Given the description of an element on the screen output the (x, y) to click on. 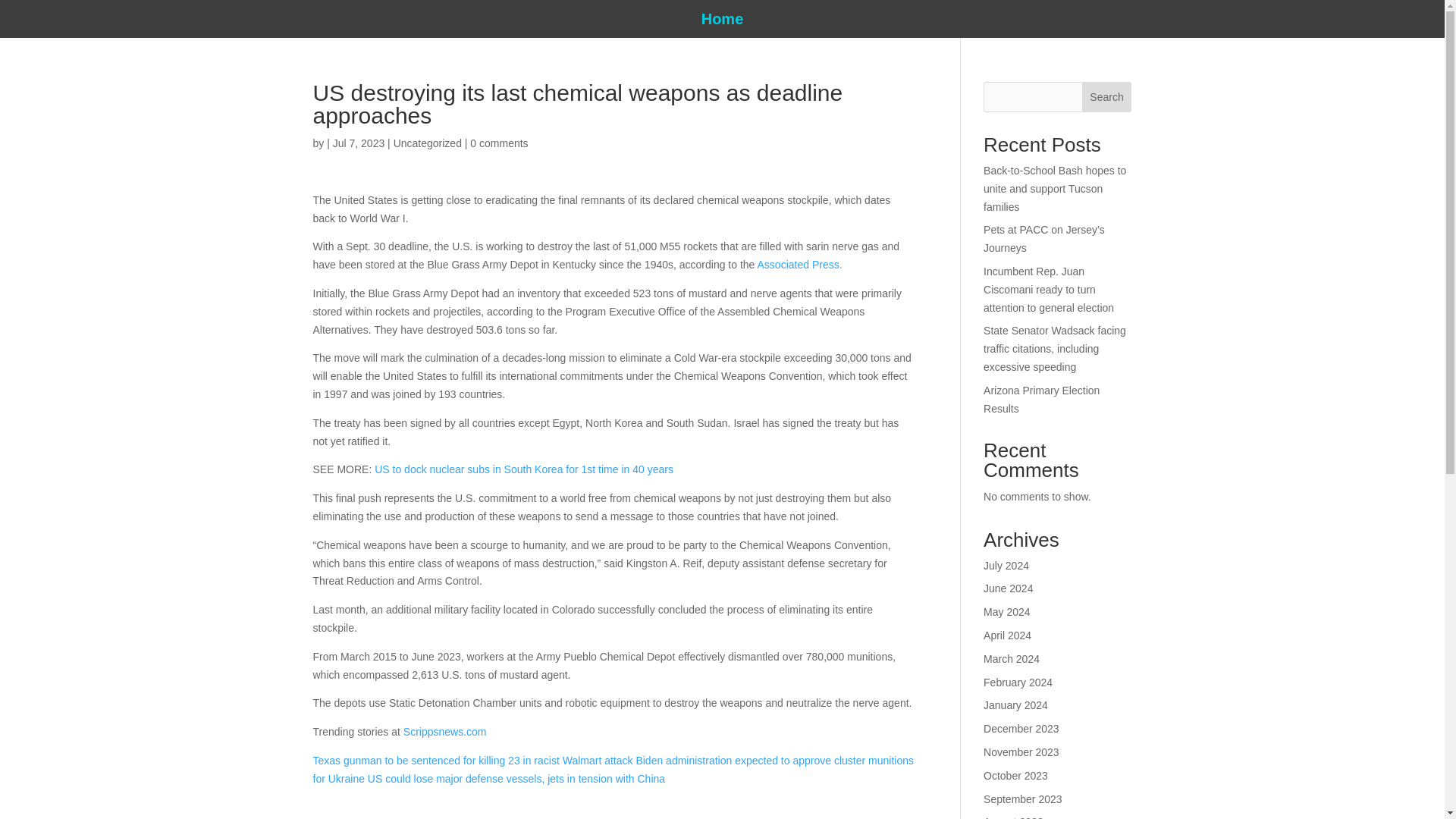
February 2024 (1018, 682)
0 comments (498, 143)
August 2023 (1013, 817)
March 2024 (1011, 658)
June 2024 (1008, 588)
September 2023 (1023, 799)
 Associated Press. (797, 264)
January 2024 (1016, 705)
July 2024 (1006, 565)
